Given the description of an element on the screen output the (x, y) to click on. 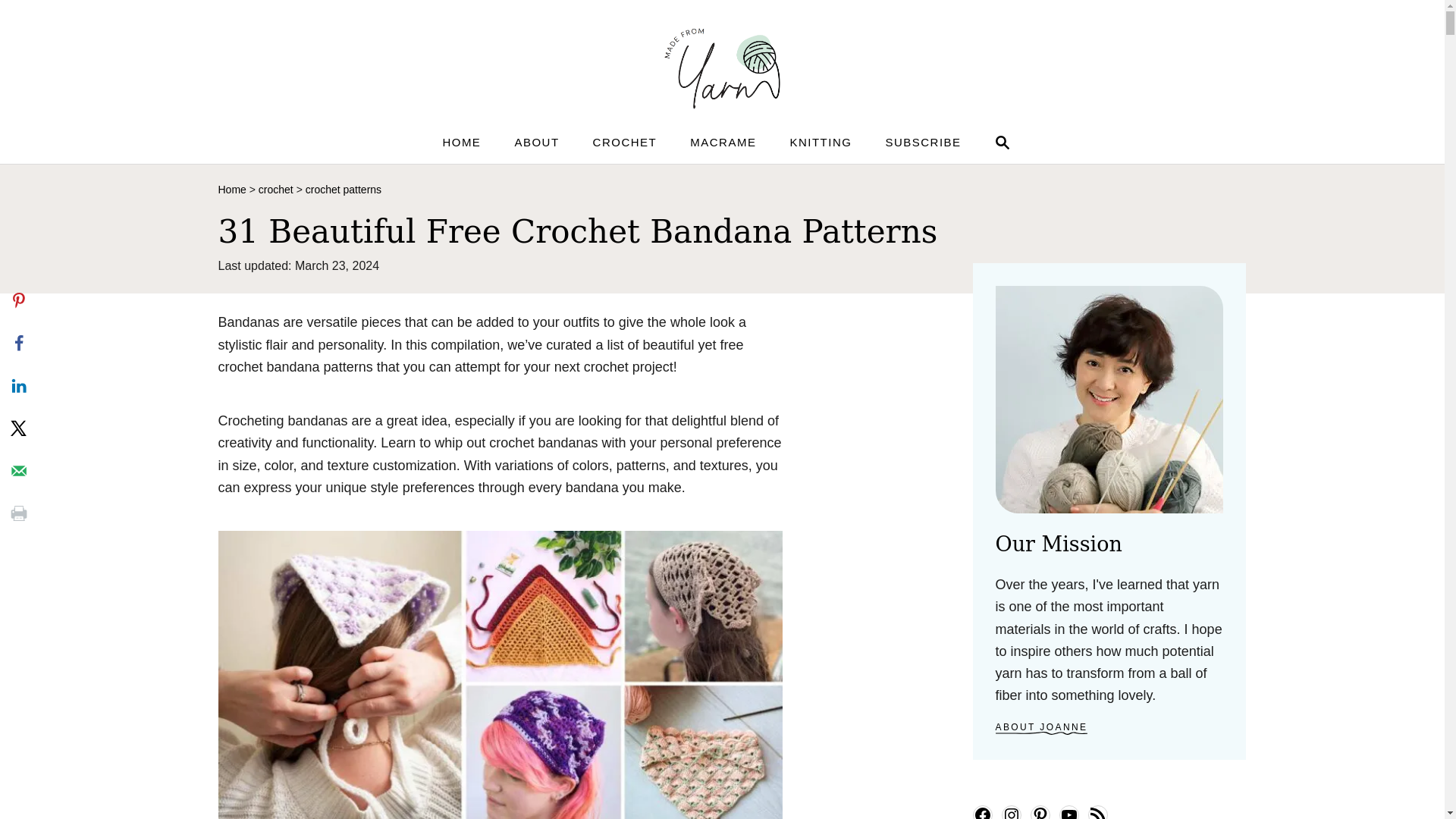
crochet patterns (343, 189)
Magnifying Glass (1001, 142)
Made From Yarn (721, 65)
ABOUT (536, 141)
Home (998, 142)
HOME (232, 189)
MACRAME (460, 141)
KNITTING (723, 141)
